Given the description of an element on the screen output the (x, y) to click on. 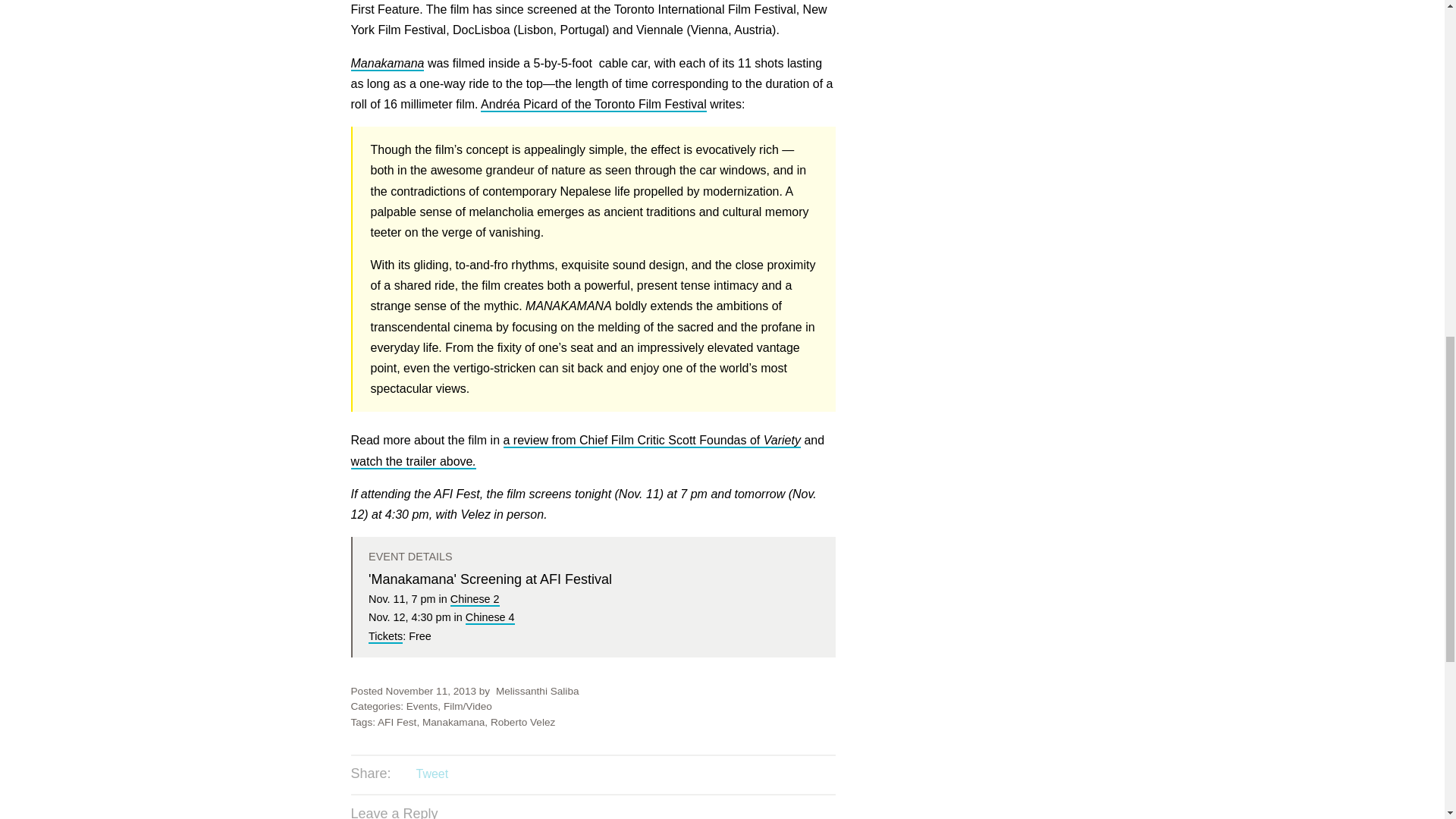
Share on Tumblr (493, 774)
Roberto Velez (522, 722)
Chinese 2 (474, 599)
Events (422, 706)
Share on Tumblr (493, 774)
Melissanthi Saliba (537, 690)
Manakamana (386, 63)
Tweet (431, 773)
AFI Fest (396, 722)
watch the trailer above. (413, 462)
